Given the description of an element on the screen output the (x, y) to click on. 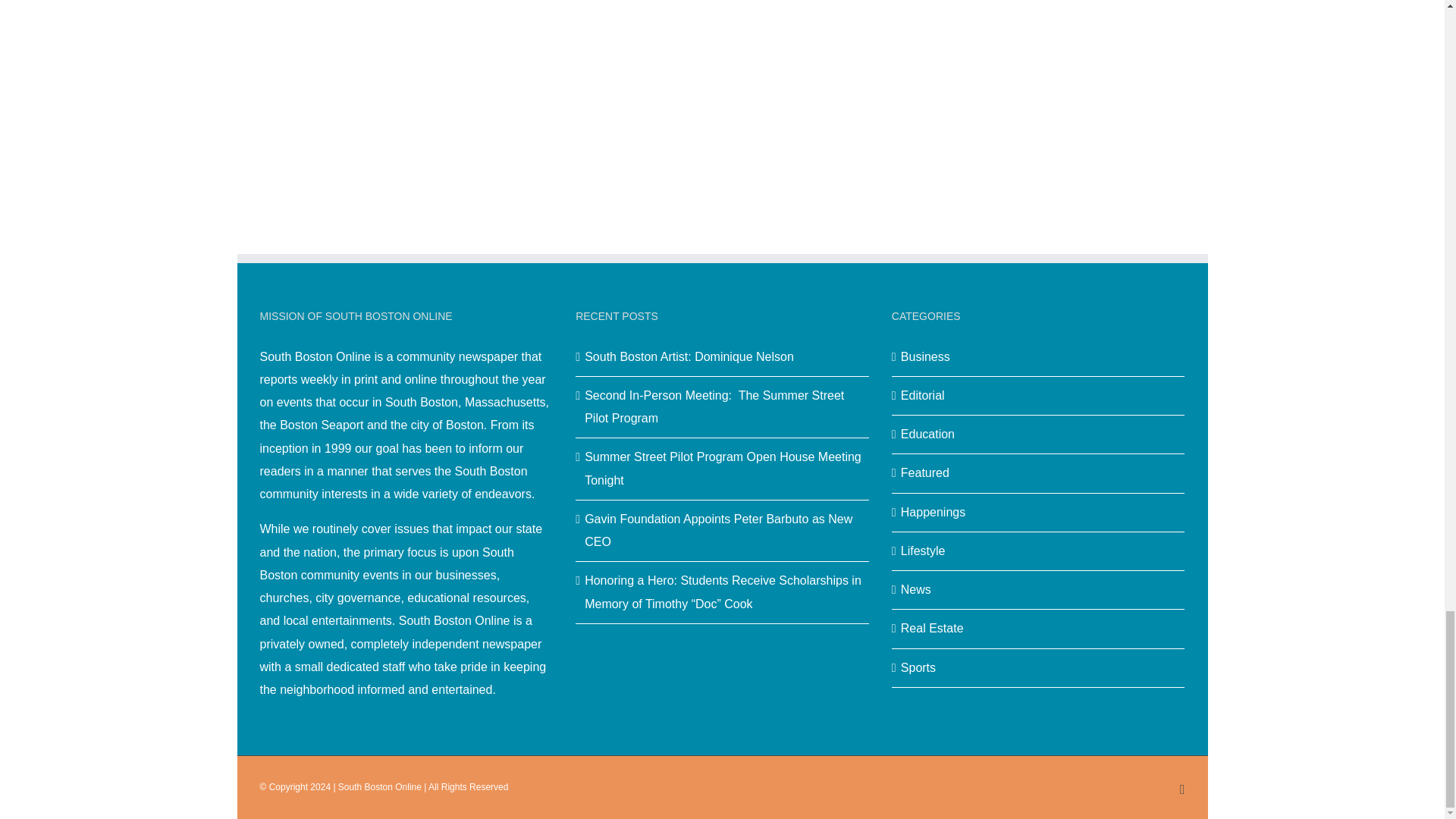
Facebook (1182, 789)
